Given the description of an element on the screen output the (x, y) to click on. 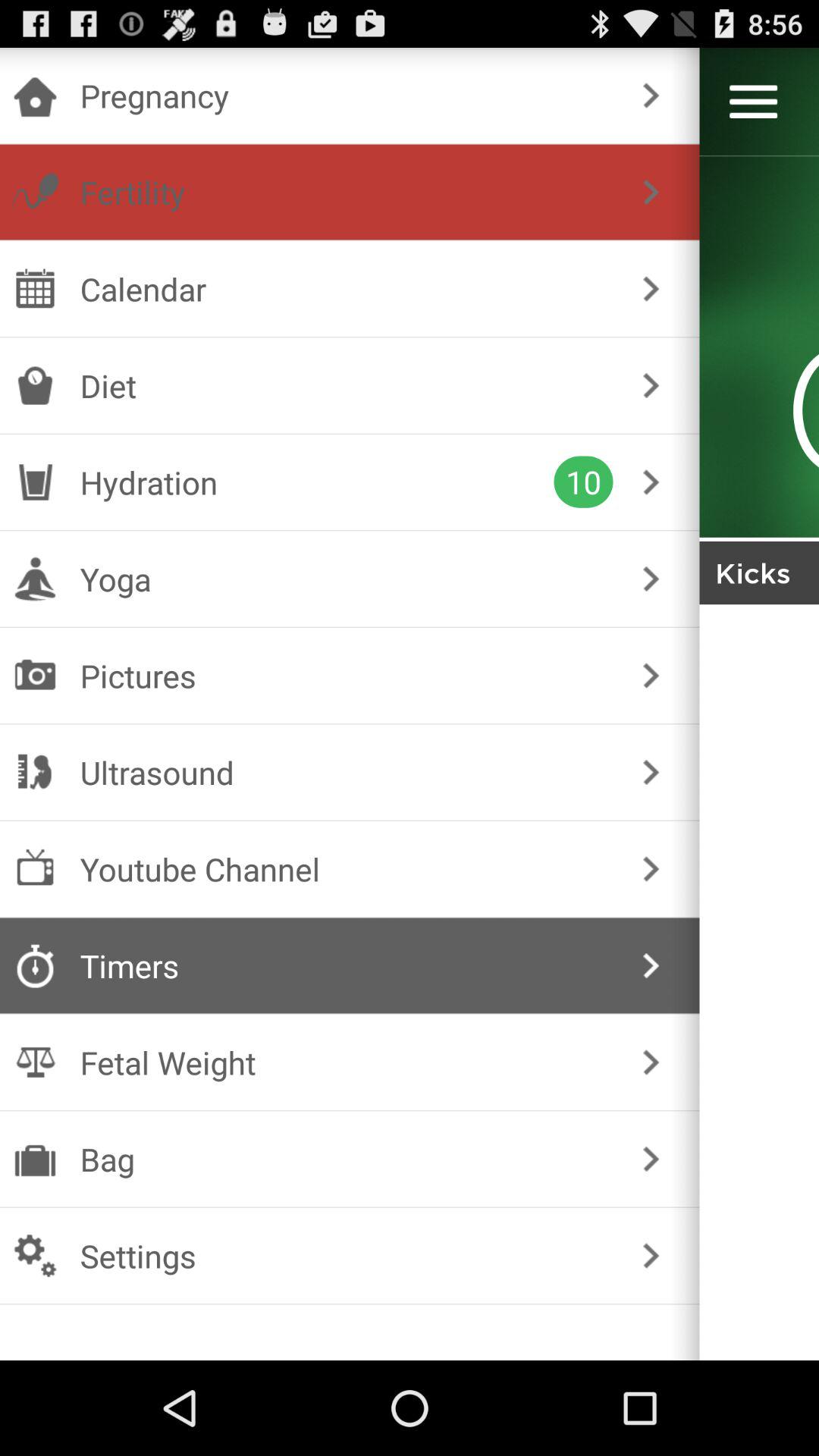
jump until the diet icon (346, 385)
